Given the description of an element on the screen output the (x, y) to click on. 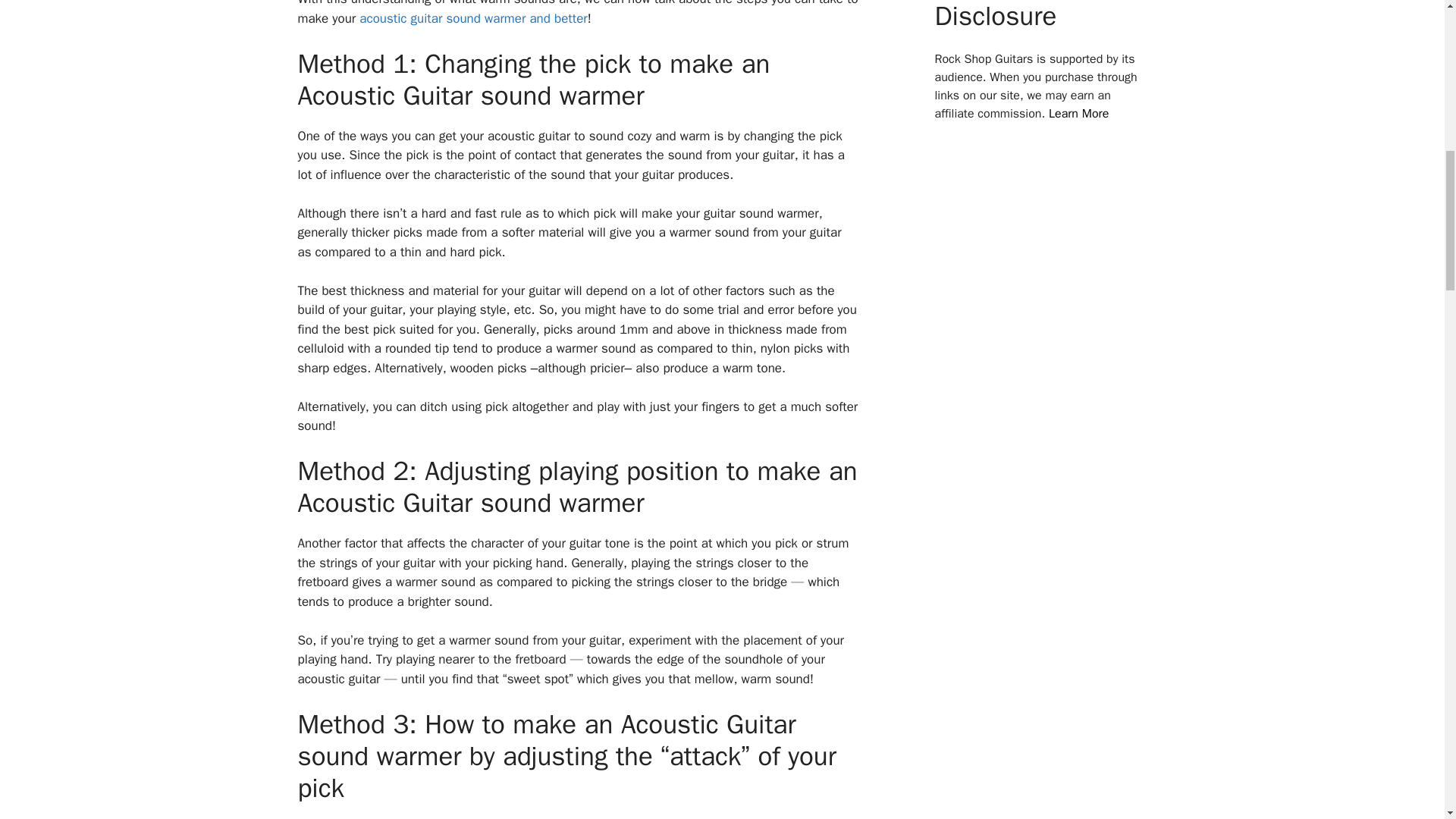
acoustic guitar sound warmer and better (472, 18)
Scroll back to top (1406, 720)
Learn More (1078, 113)
